Given the description of an element on the screen output the (x, y) to click on. 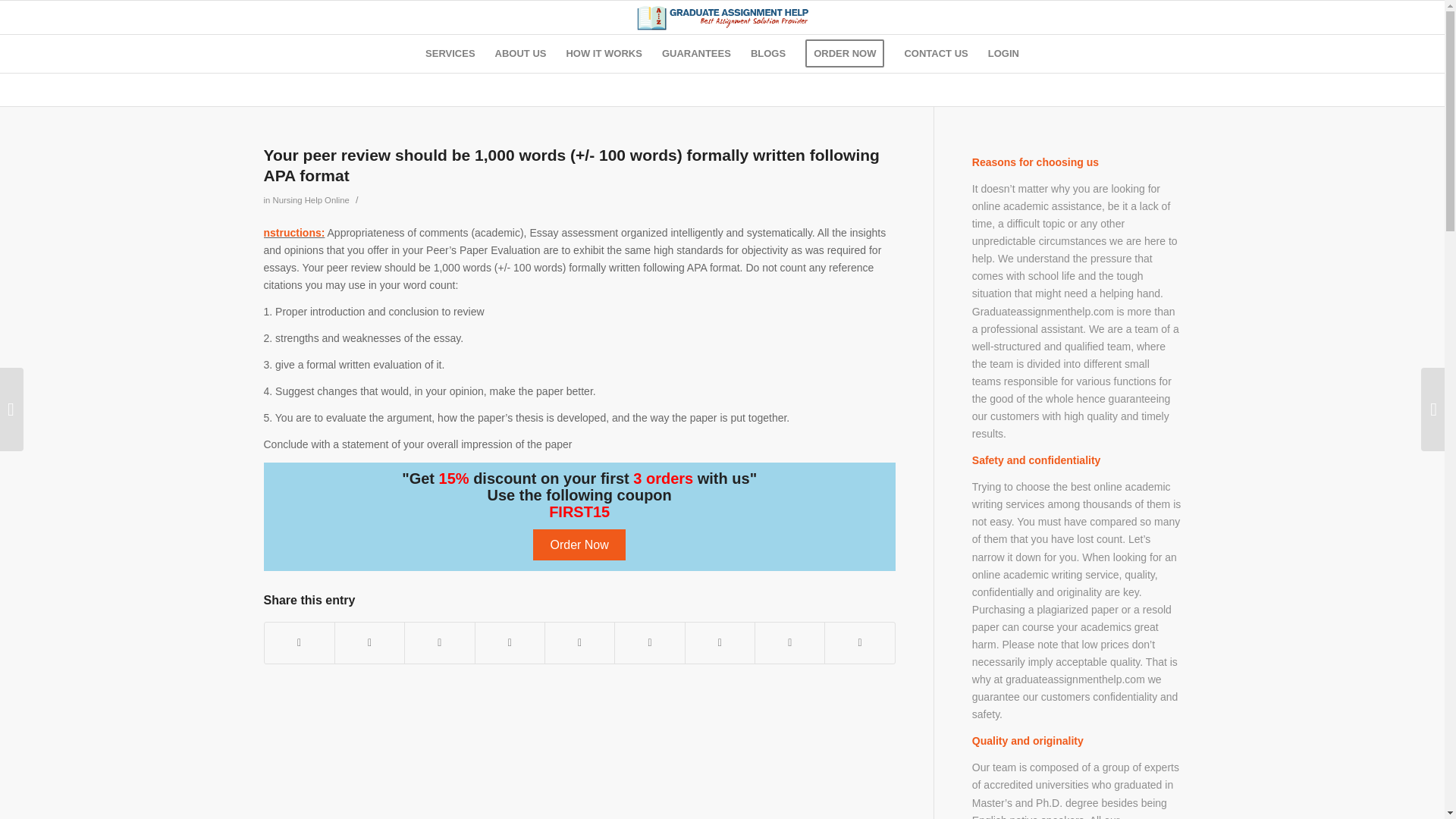
ORDER NOW (843, 53)
ABOUT US (520, 53)
Nursing Help Online (310, 199)
Order Now (578, 544)
BLOGS (767, 53)
SERVICES (449, 53)
HOW IT WORKS (603, 53)
GUARANTEES (696, 53)
CONTACT US (934, 53)
LOGIN (1003, 53)
